Given the description of an element on the screen output the (x, y) to click on. 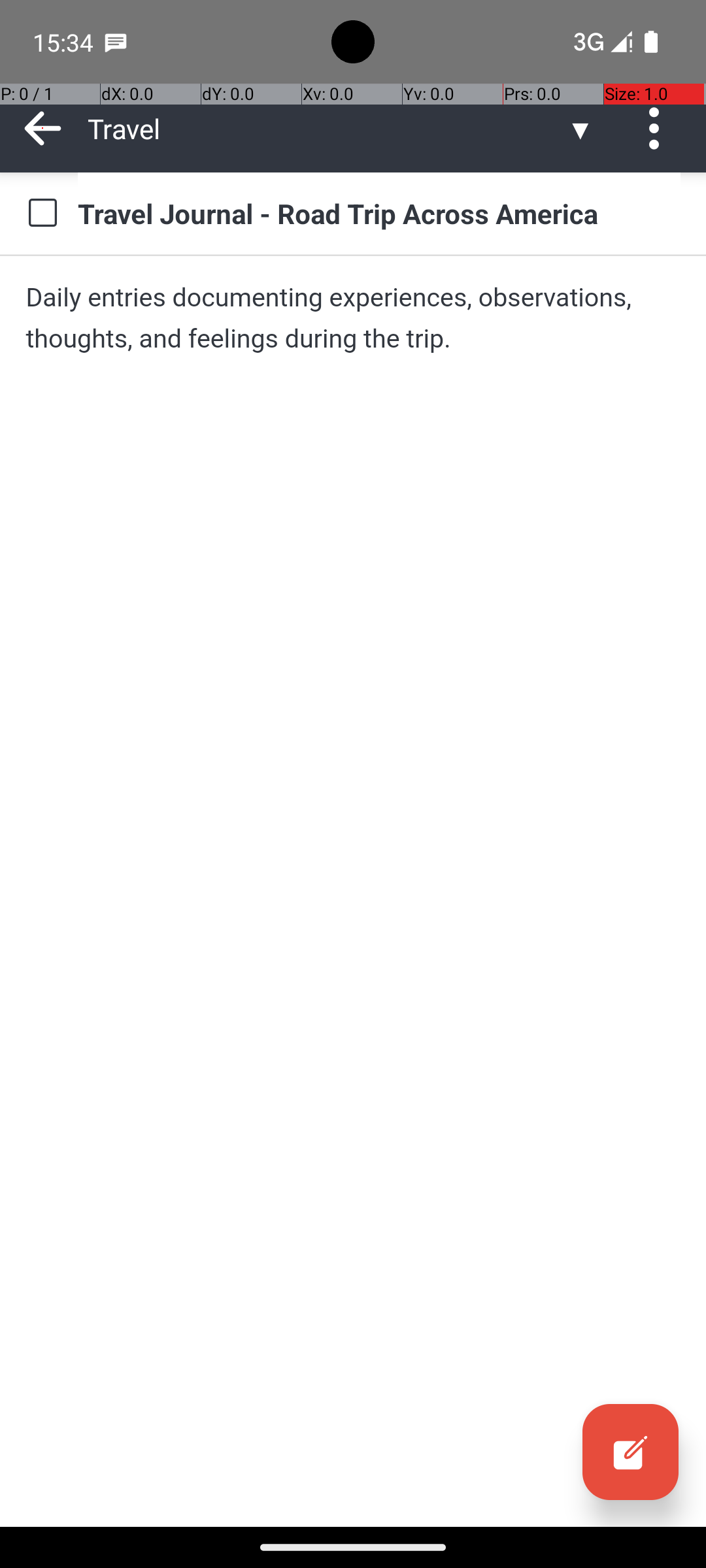
Travel Journal - Road Trip Across America Element type: android.widget.EditText (378, 213)
Travel Element type: android.widget.TextView (326, 128)
Daily entries documenting experiences, observations, thoughts, and feelings during the trip. Element type: android.widget.TextView (352, 317)
